Given the description of an element on the screen output the (x, y) to click on. 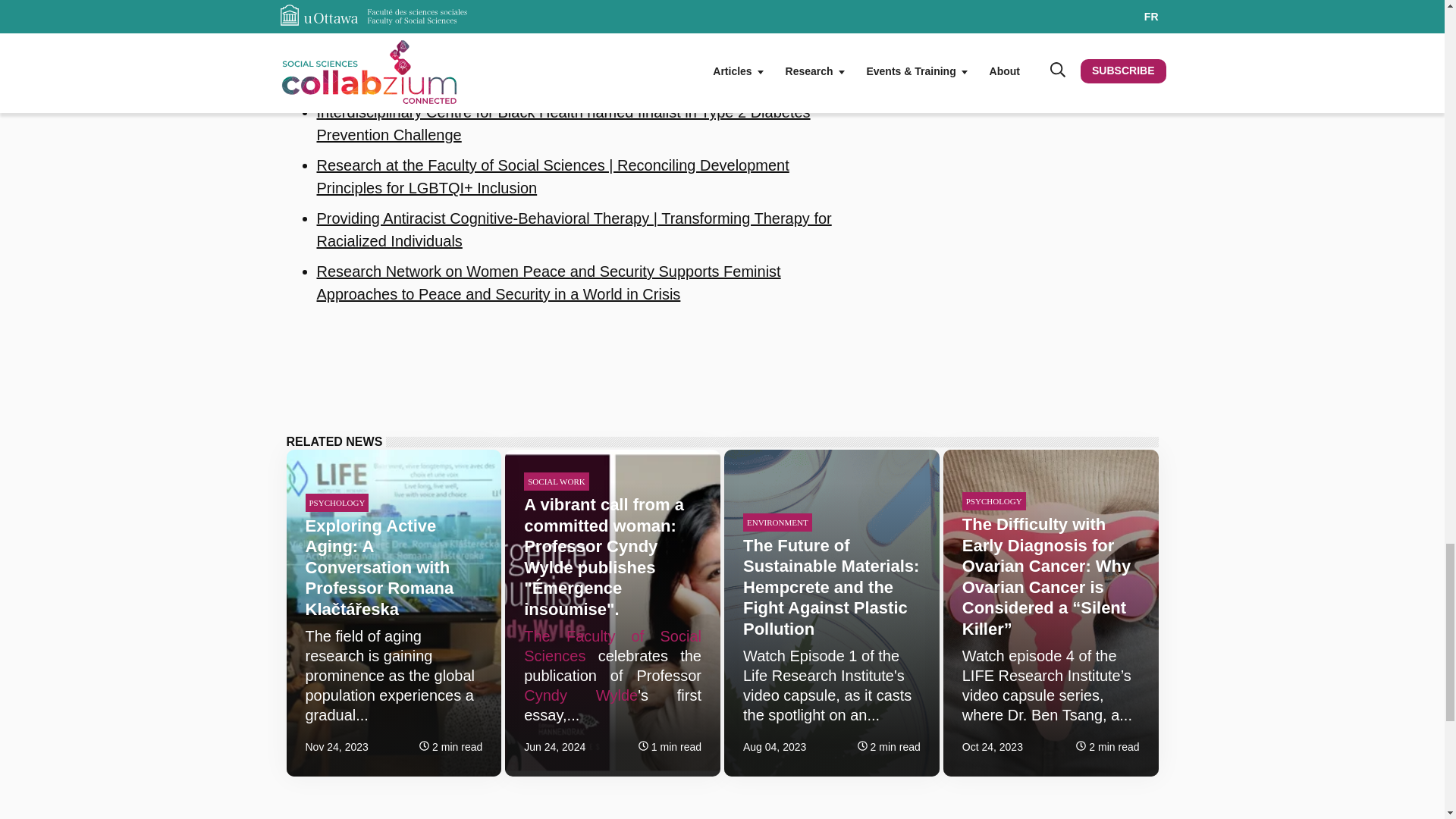
The Faculty of Social Sciences (612, 646)
PSYCHOLOGY (336, 502)
Cyndy Wylde (580, 695)
ENVIRONMENT (777, 521)
SOCIAL WORK (556, 481)
PSYCHOLOGY (994, 501)
